Given the description of an element on the screen output the (x, y) to click on. 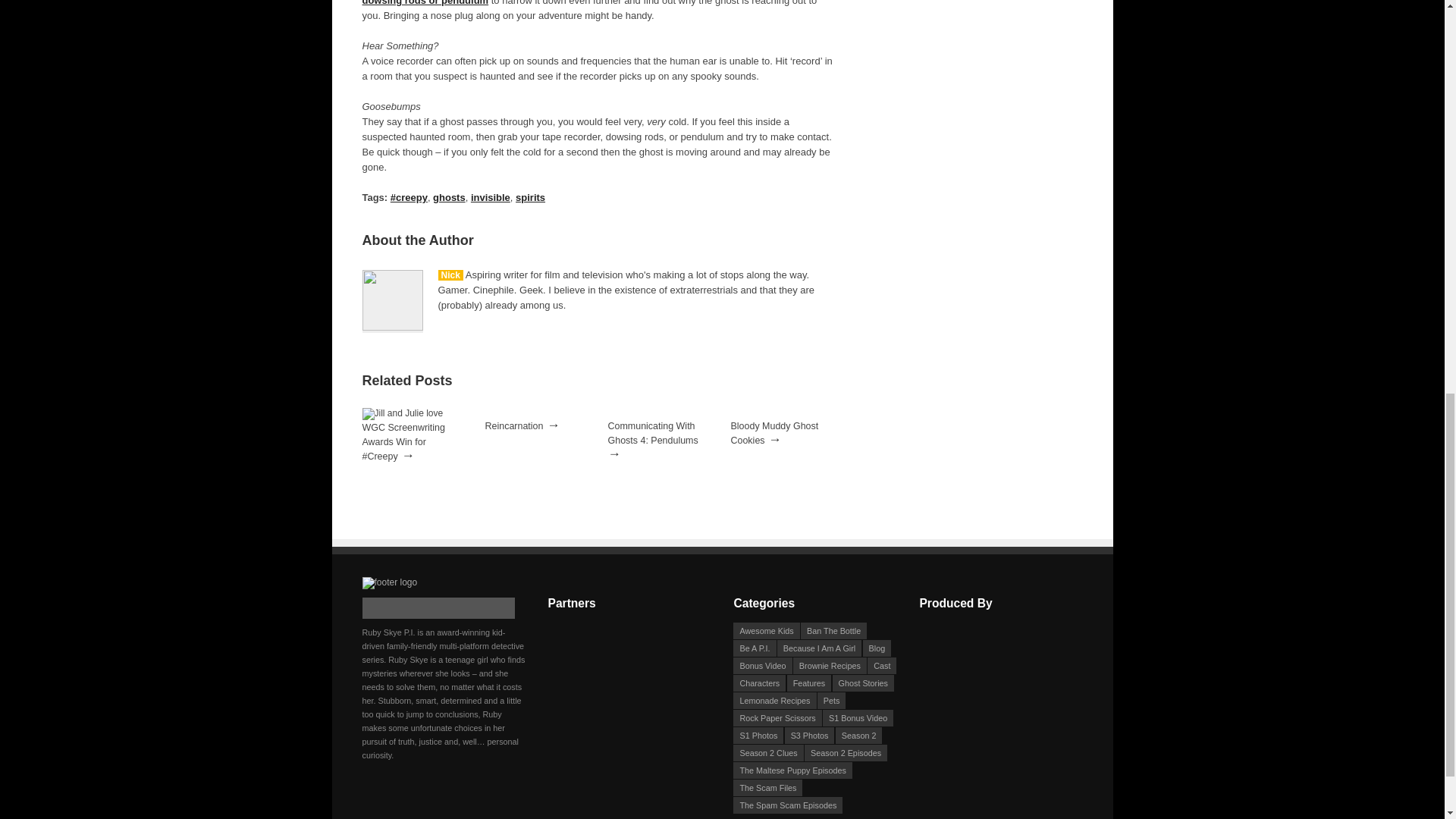
Reincarnation (513, 425)
Posts by Nick (450, 275)
Bloody Muddy Ghost Cookies (774, 432)
Communicating With Ghosts 4: Pendulums (653, 432)
